Given the description of an element on the screen output the (x, y) to click on. 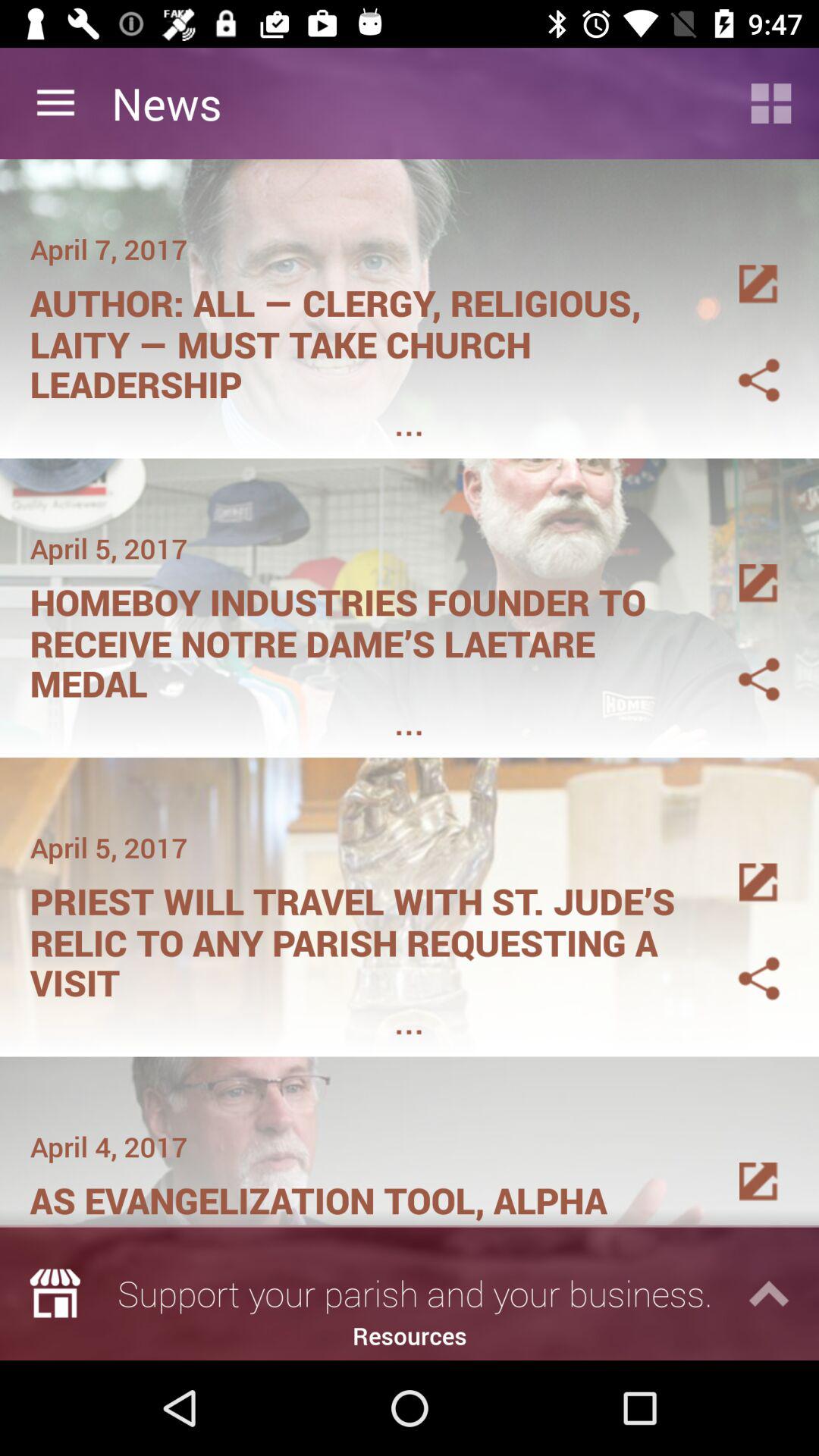
share the article (740, 960)
